Given the description of an element on the screen output the (x, y) to click on. 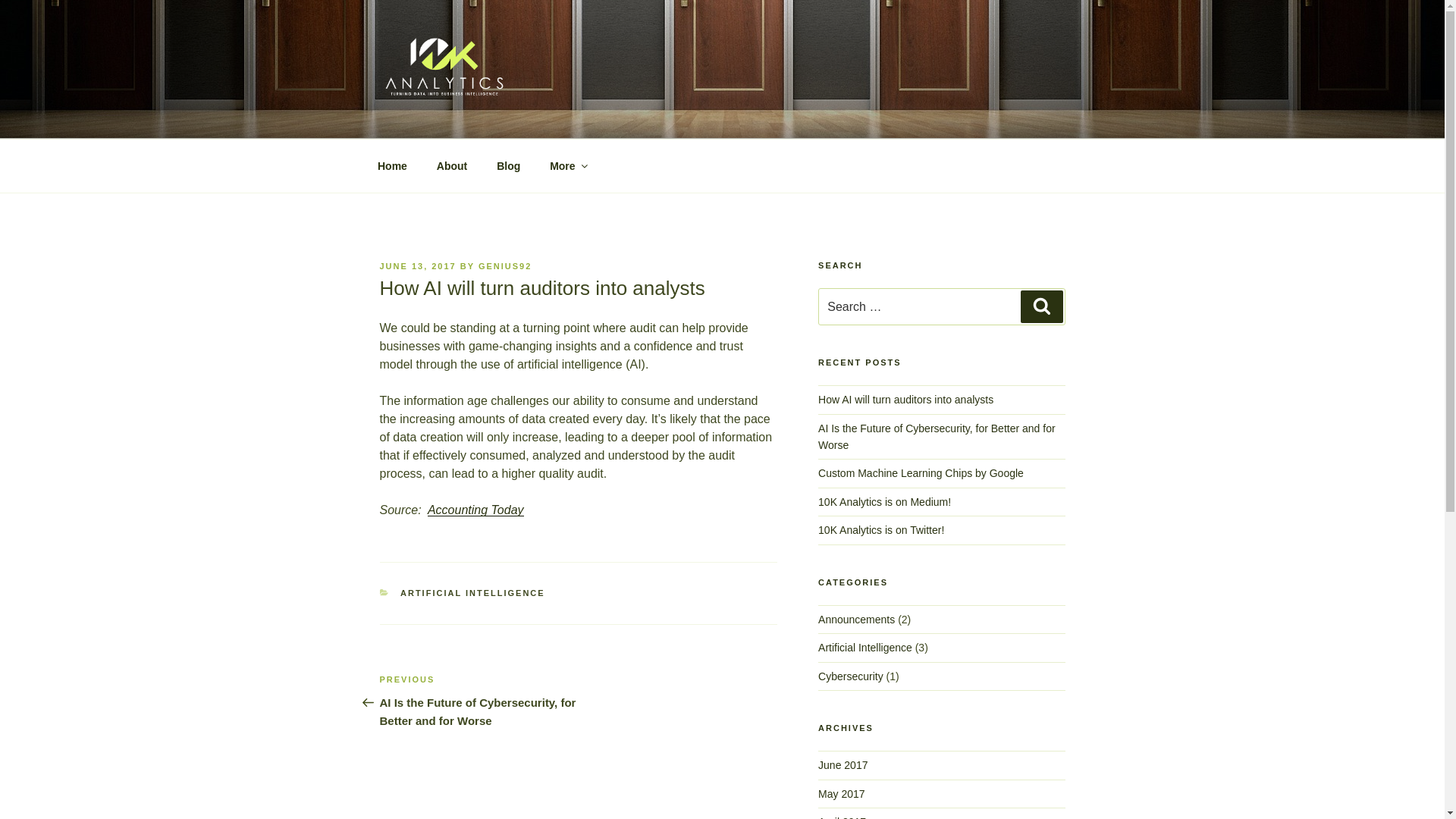
June 2017 Element type: text (842, 765)
Announcements Element type: text (856, 619)
Cybersecurity Element type: text (850, 676)
Blog Element type: text (508, 165)
Home Element type: text (392, 165)
AI Is the Future of Cybersecurity, for Better and for Worse Element type: text (936, 436)
ARTIFICIAL INTELLIGENCE Element type: text (472, 592)
Search Element type: text (1041, 306)
More Element type: text (567, 165)
JUNE 13, 2017 Element type: text (417, 265)
How AI will turn auditors into analysts Element type: text (905, 399)
GENIUS92 Element type: text (504, 265)
Artificial Intelligence Element type: text (865, 647)
Custom Machine Learning Chips by Google Element type: text (920, 473)
May 2017 Element type: text (841, 793)
10K Analytics is on Medium! Element type: text (884, 501)
10K Analytics is on Twitter! Element type: text (881, 530)
10K ANALYTICS Element type: text (498, 118)
Accounting Today Element type: text (475, 509)
About Element type: text (451, 165)
